Given the description of an element on the screen output the (x, y) to click on. 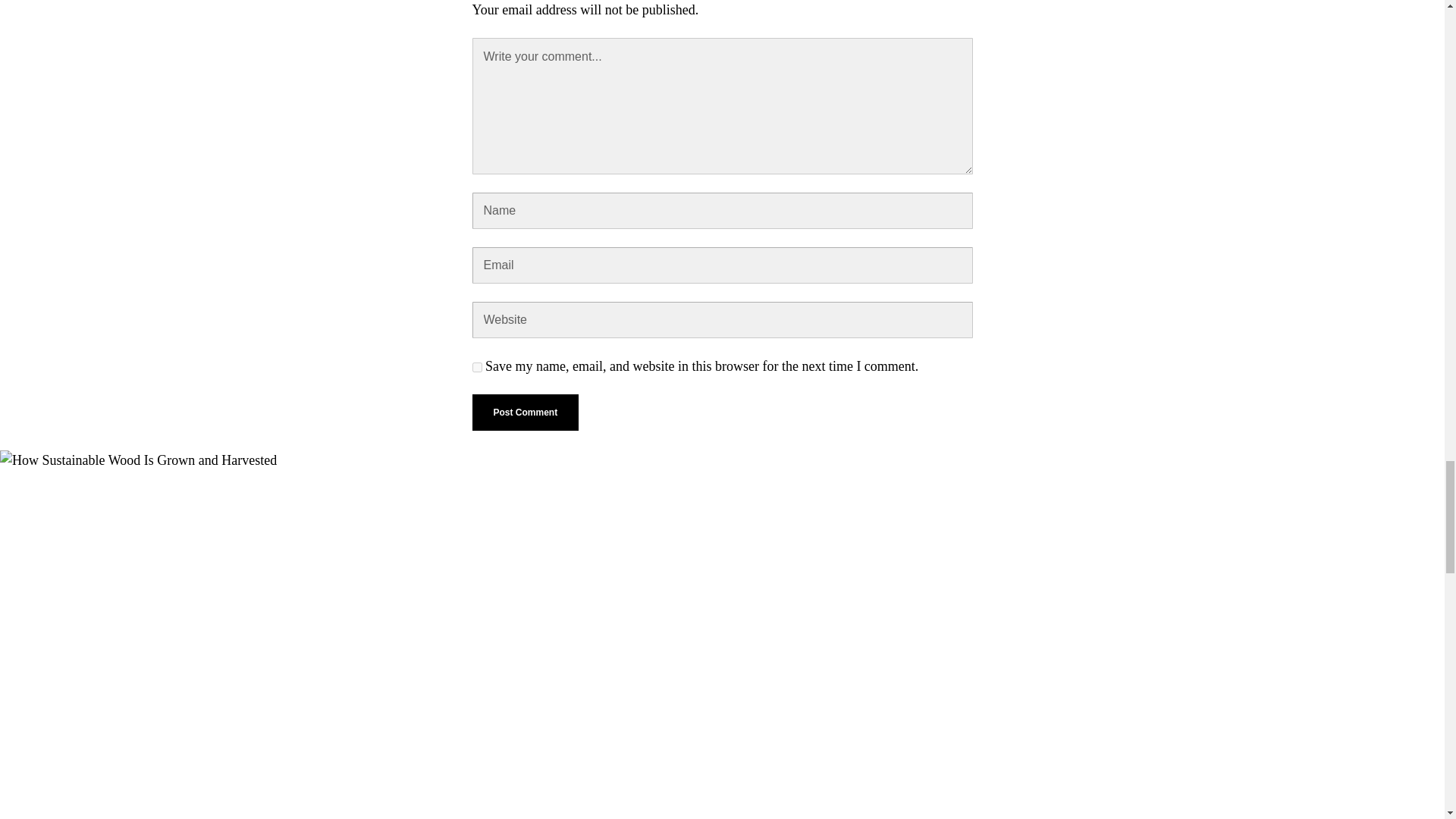
Post Comment (524, 411)
yes (476, 367)
